Given the description of an element on the screen output the (x, y) to click on. 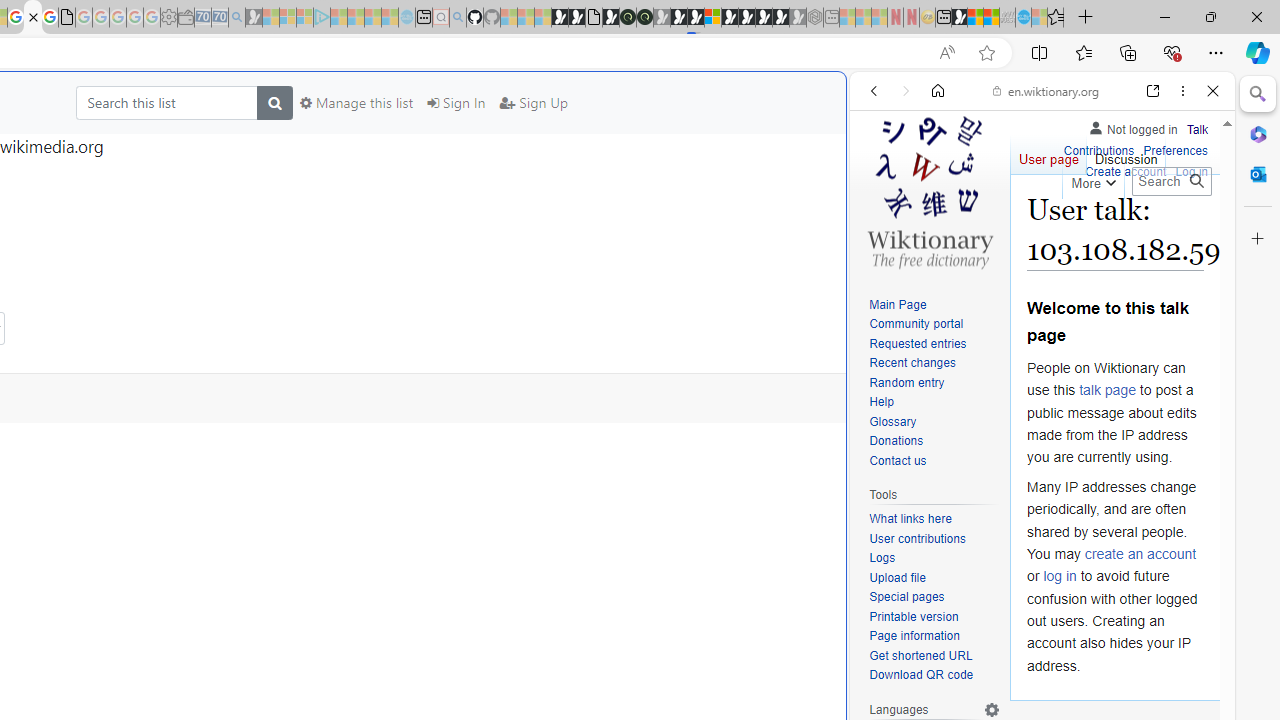
Contact us (897, 460)
Page information (914, 636)
Search this list (166, 102)
Not logged in (1132, 126)
Wiktionary (1034, 669)
Create account (1125, 169)
